Given the description of an element on the screen output the (x, y) to click on. 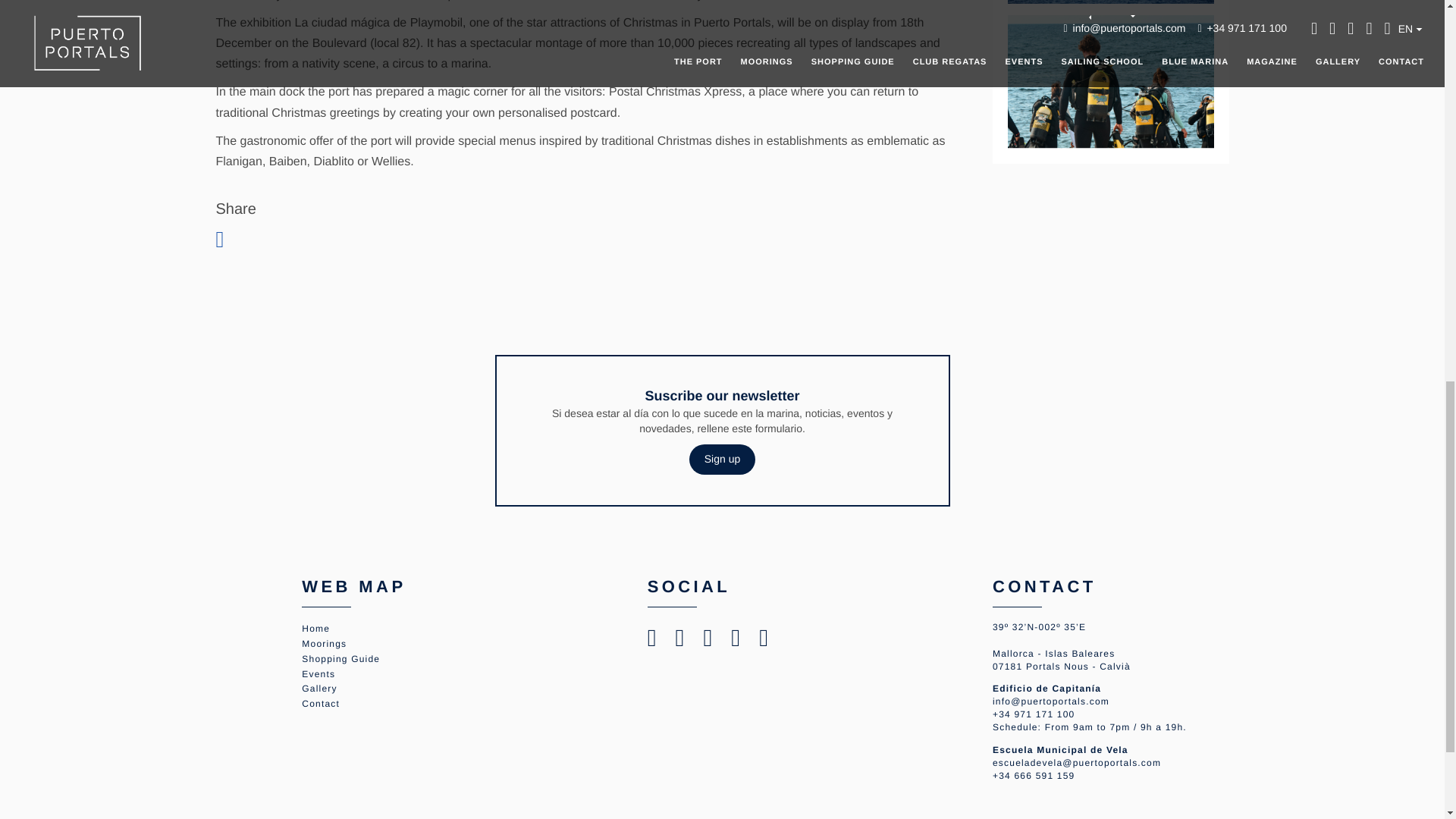
Home (315, 628)
Sign up (721, 459)
Events (317, 674)
Contact (320, 703)
Moorings (323, 643)
Shopping Guide (340, 658)
Gallery (318, 688)
